Given the description of an element on the screen output the (x, y) to click on. 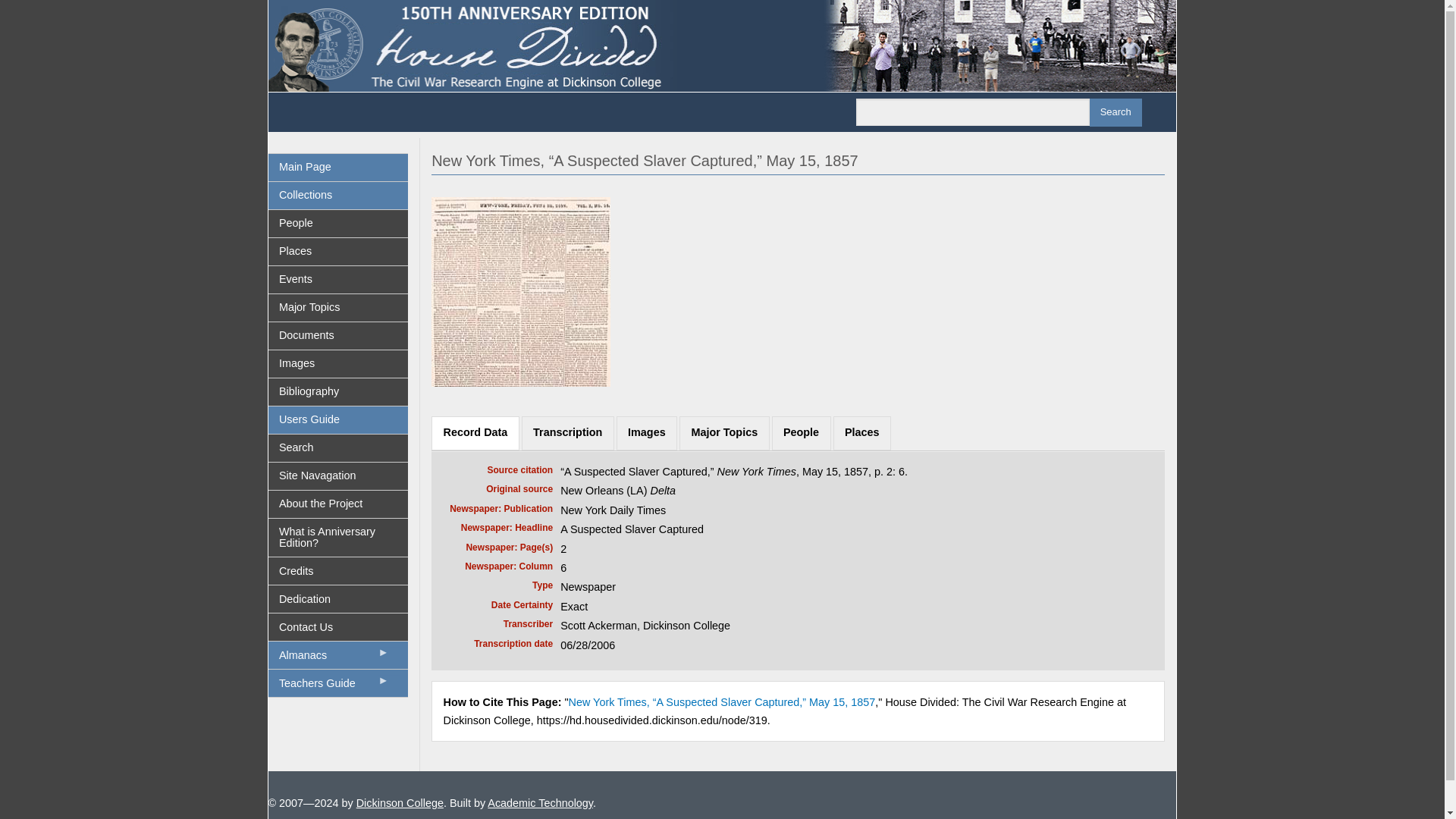
What is Anniversary Edition? (338, 537)
Events (338, 279)
Bibliography (338, 391)
No image yet available for this newspaper (520, 290)
About the Project (338, 503)
People (801, 432)
Search (338, 447)
Main Page (338, 166)
Places (338, 251)
